Given the description of an element on the screen output the (x, y) to click on. 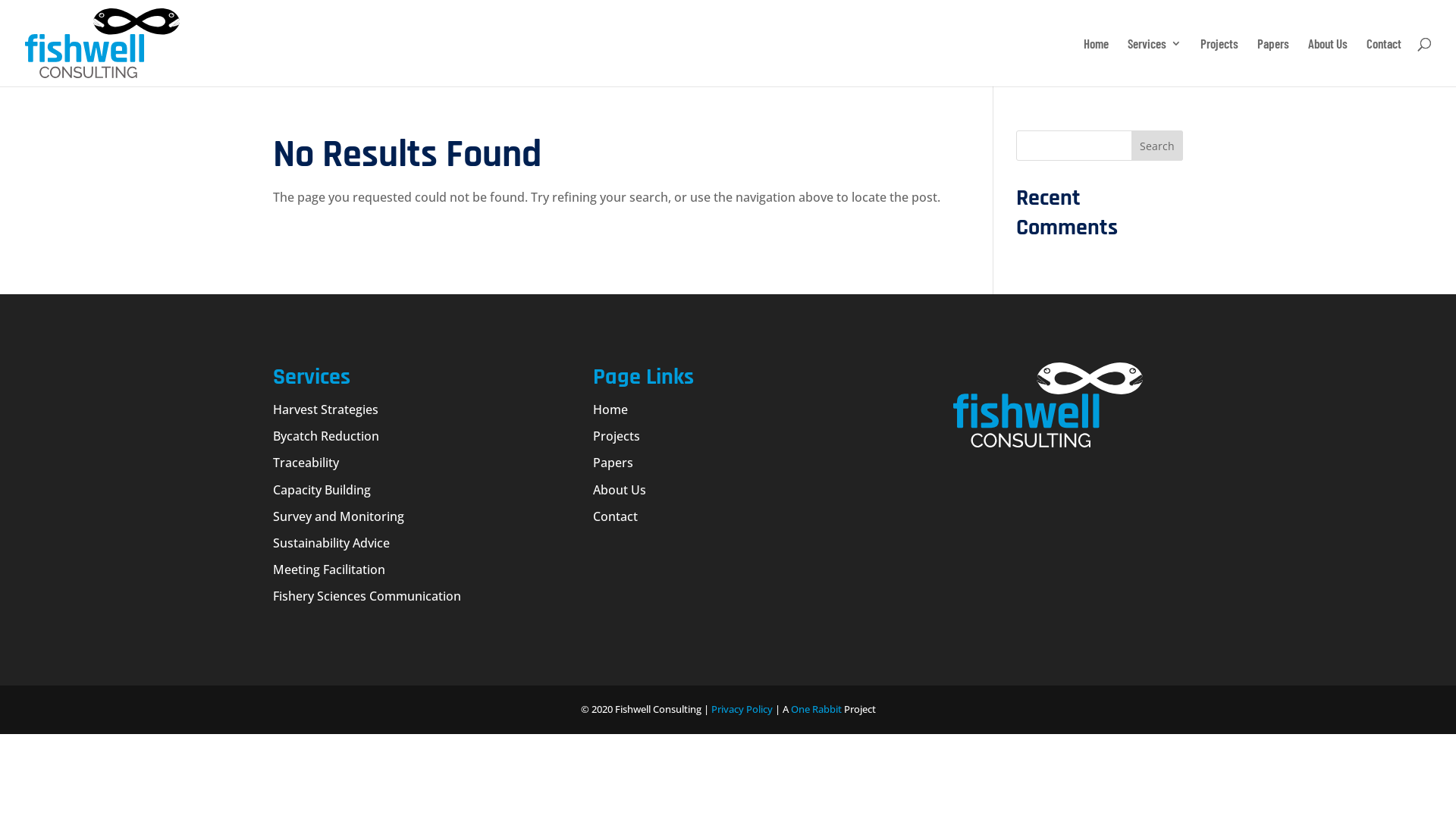
Harvest Strategies Element type: text (325, 409)
Fishwell-ConsultingLogo-Inverted Element type: hover (1047, 404)
Projects Element type: text (1219, 61)
Contact Element type: text (1383, 61)
Search Element type: text (1157, 145)
Home Element type: text (1095, 61)
Sustainability Advice Element type: text (331, 542)
Contact Element type: text (615, 516)
Privacy Policy Element type: text (741, 708)
Fishery Sciences Communication Element type: text (367, 595)
Meeting Facilitation Element type: text (329, 569)
Survey and Monitoring Element type: text (338, 516)
Papers Element type: text (613, 462)
Home Element type: text (610, 409)
Bycatch Reduction Element type: text (326, 435)
One Rabbit Element type: text (815, 708)
Capacity Building Element type: text (321, 489)
Projects Element type: text (616, 435)
About Us Element type: text (619, 489)
Traceability Element type: text (305, 462)
Papers Element type: text (1273, 61)
About Us Element type: text (1327, 61)
Services Element type: text (1154, 61)
